Given the description of an element on the screen output the (x, y) to click on. 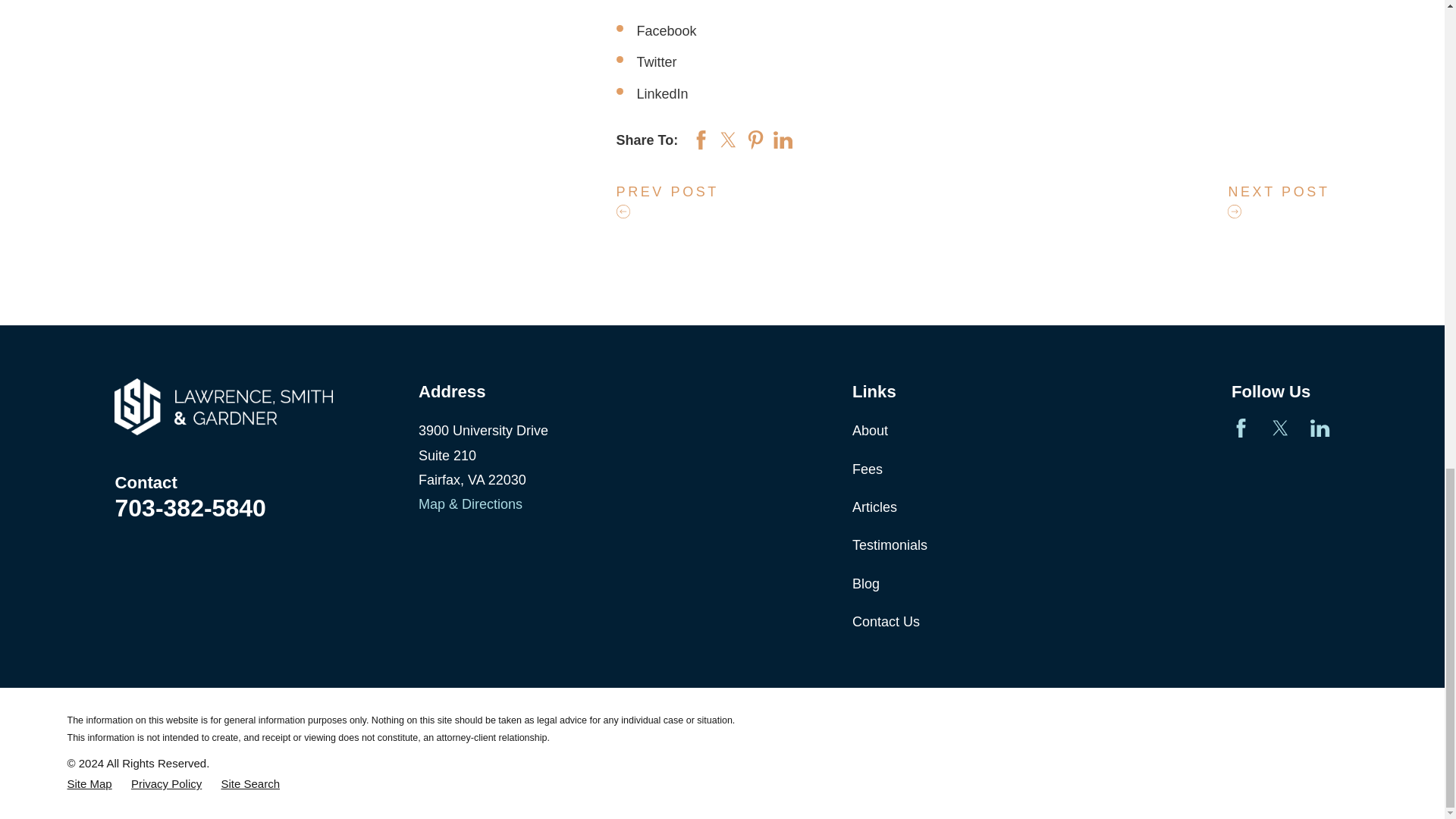
LinkedIn (1319, 427)
Home (224, 406)
Facebook (1240, 427)
Twitter (1280, 427)
